Given the description of an element on the screen output the (x, y) to click on. 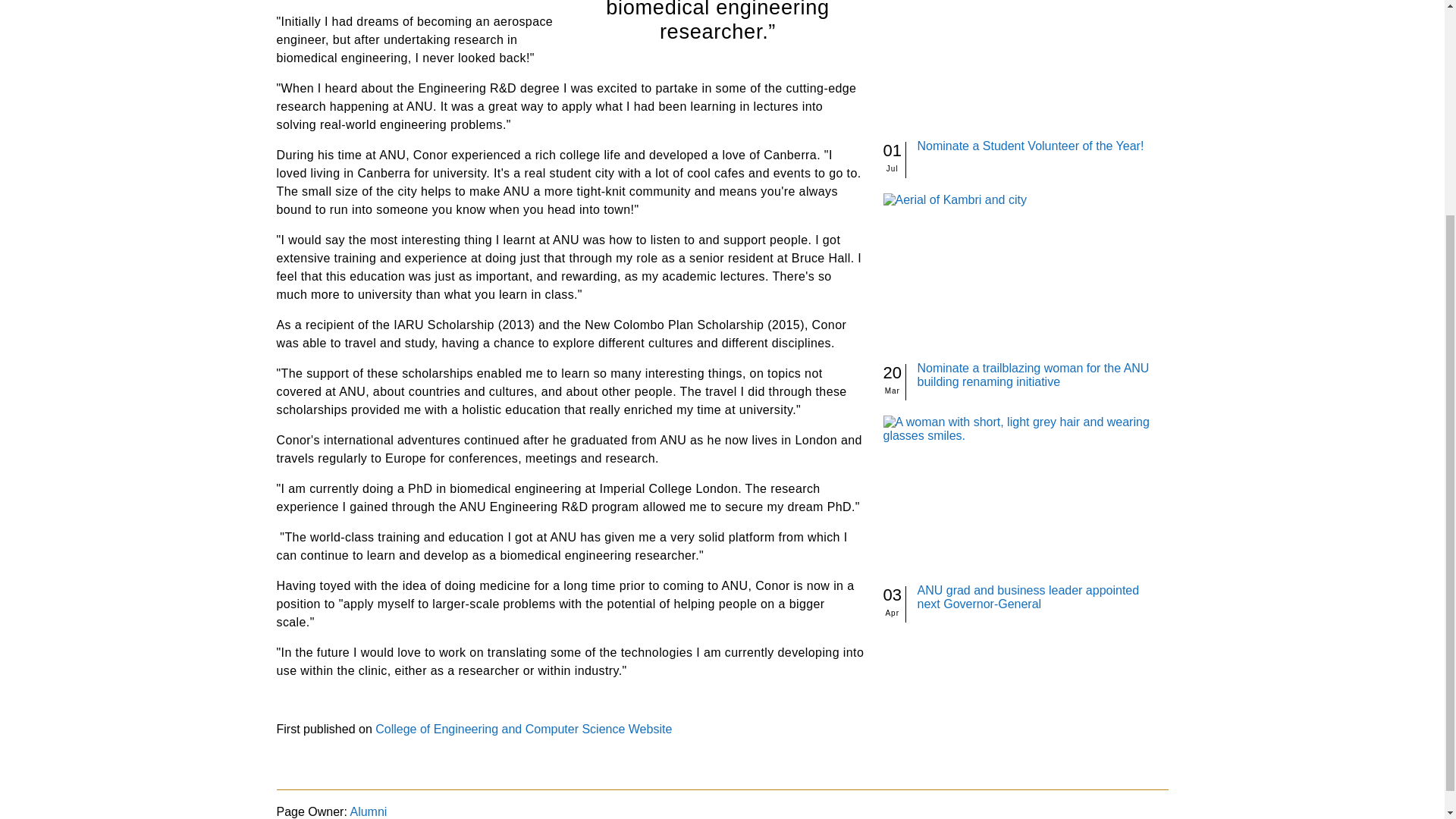
College of Engineering and Computer Science Website (523, 728)
Alumni (368, 811)
ANU grad and business leader appointed next Governor-General (1028, 596)
Nominate a Student Volunteer of the Year! (1030, 145)
